Given the description of an element on the screen output the (x, y) to click on. 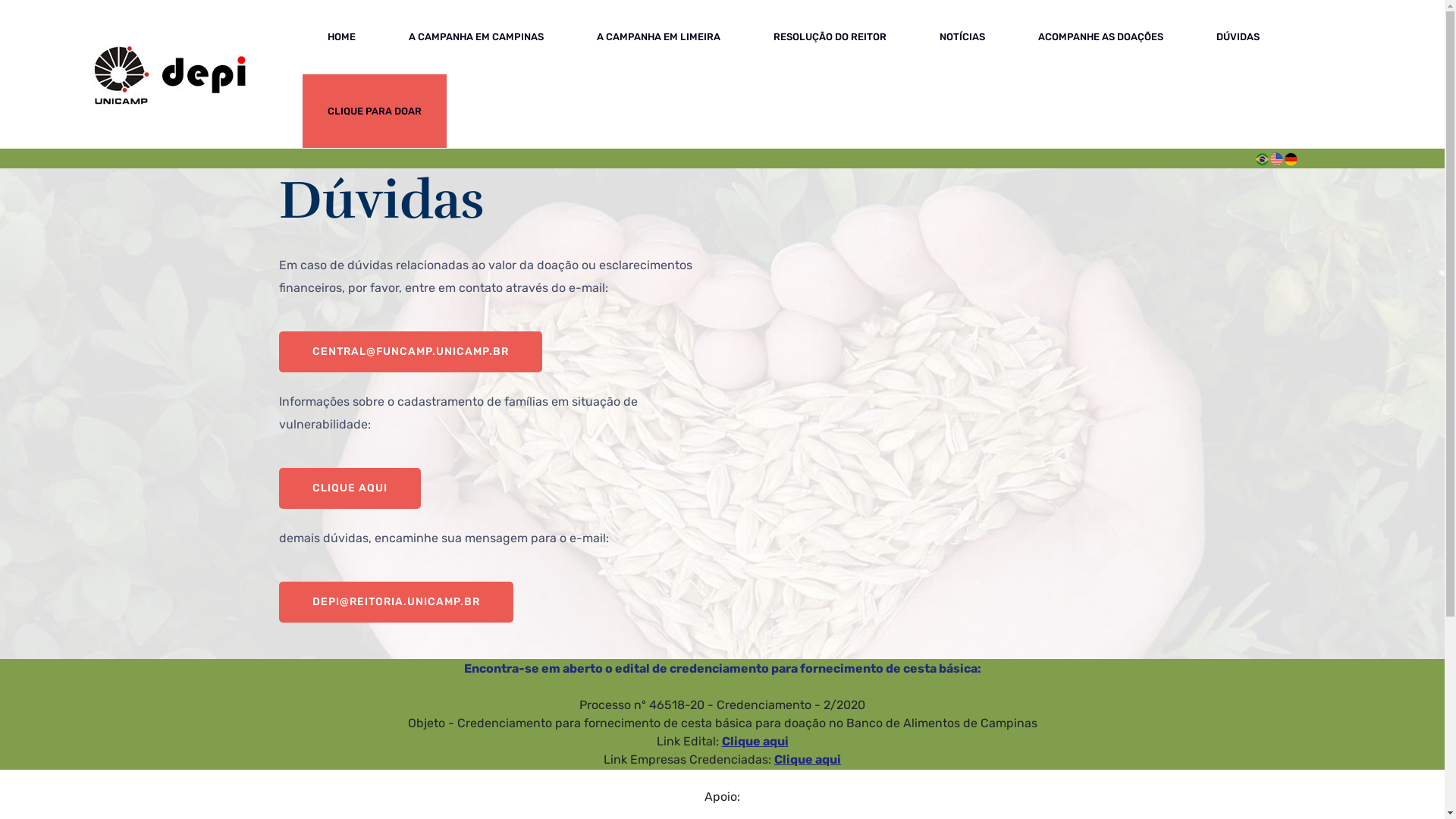
A CAMPANHA EM CAMPINAS Element type: text (476, 37)
CENTRAL@FUNCAMP.UNICAMP.BR Element type: text (410, 351)
Clique aqui Element type: text (754, 741)
HOME Element type: text (341, 37)
CLIQUE AQUI Element type: text (349, 487)
CLIQUE PARA DOAR Element type: text (374, 111)
DEPI@REITORIA.UNICAMP.BR Element type: text (396, 601)
Clique aqui Element type: text (807, 759)
A CAMPANHA EM LIMEIRA Element type: text (658, 37)
